Given the description of an element on the screen output the (x, y) to click on. 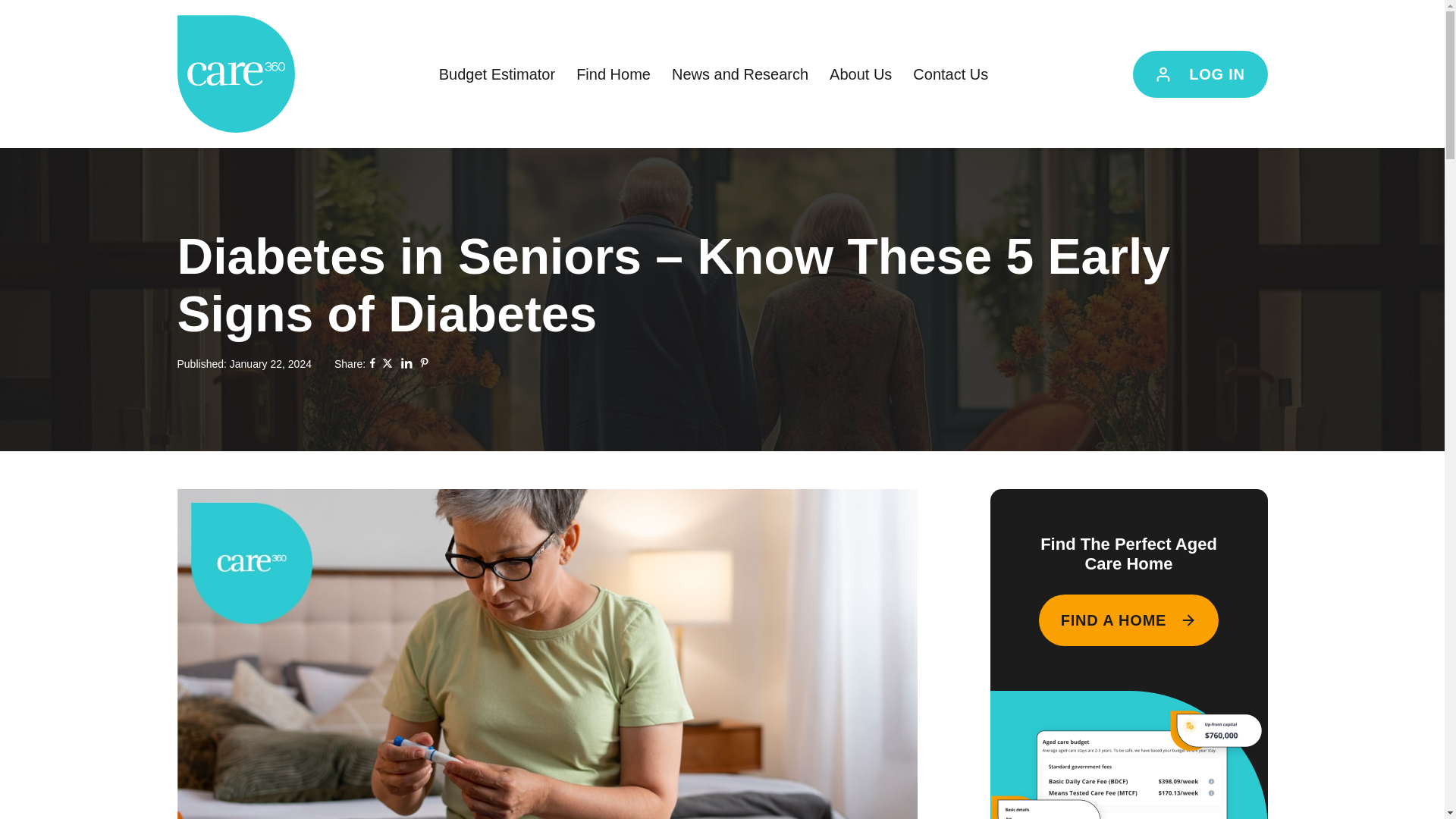
LOG IN (1200, 73)
Contact Us (950, 73)
Budget Estimator (497, 73)
News and Research (739, 73)
About Us (860, 73)
Find Home (613, 73)
FIND A HOME (1129, 620)
